Given the description of an element on the screen output the (x, y) to click on. 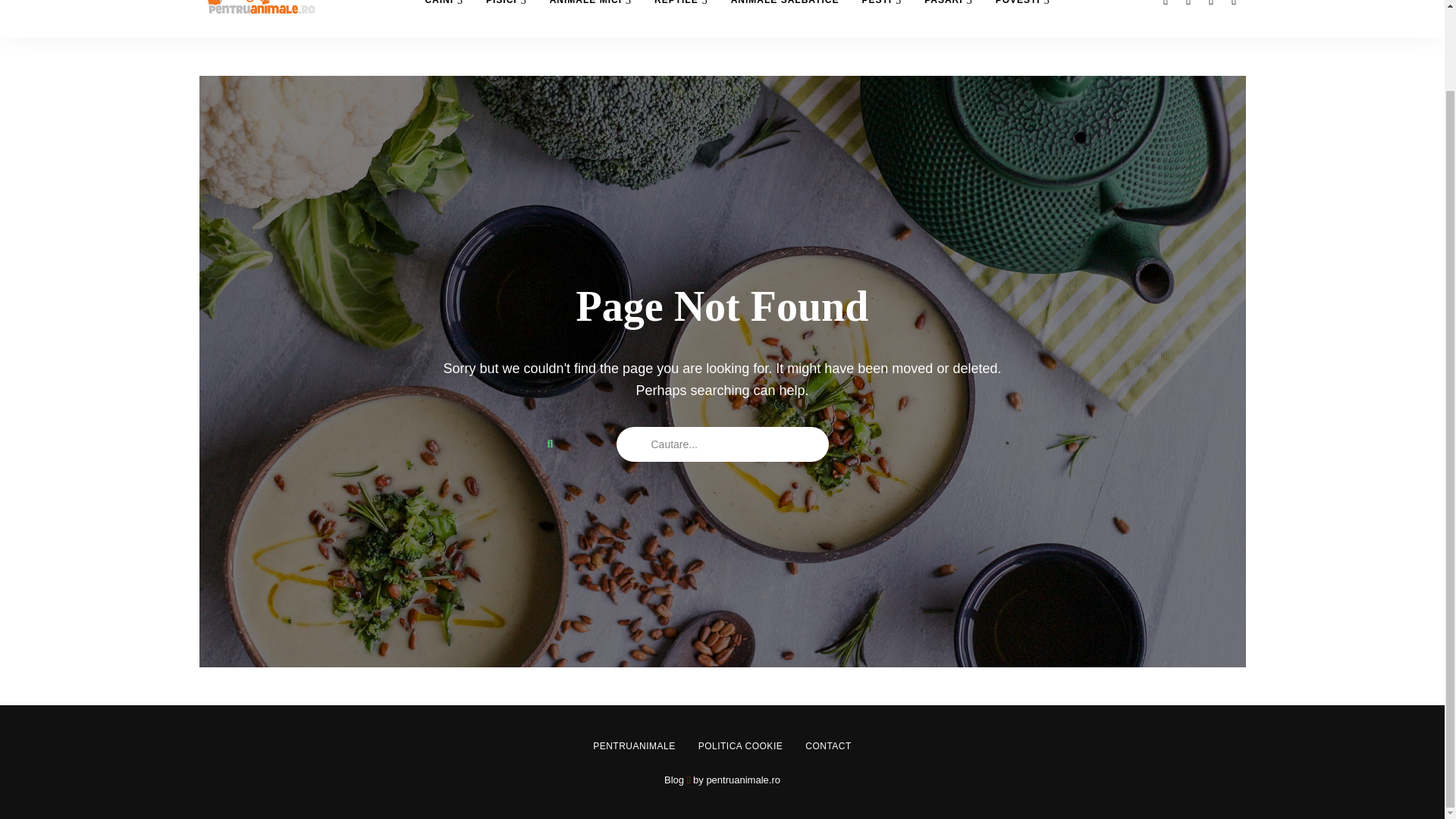
PESTI (881, 18)
ANIMALE MICI (590, 18)
CAINI (443, 18)
PASARI (948, 18)
PISICI (506, 18)
ANIMALE SALBATICE (784, 18)
POVESTI (1022, 18)
REPTILE (681, 18)
